Given the description of an element on the screen output the (x, y) to click on. 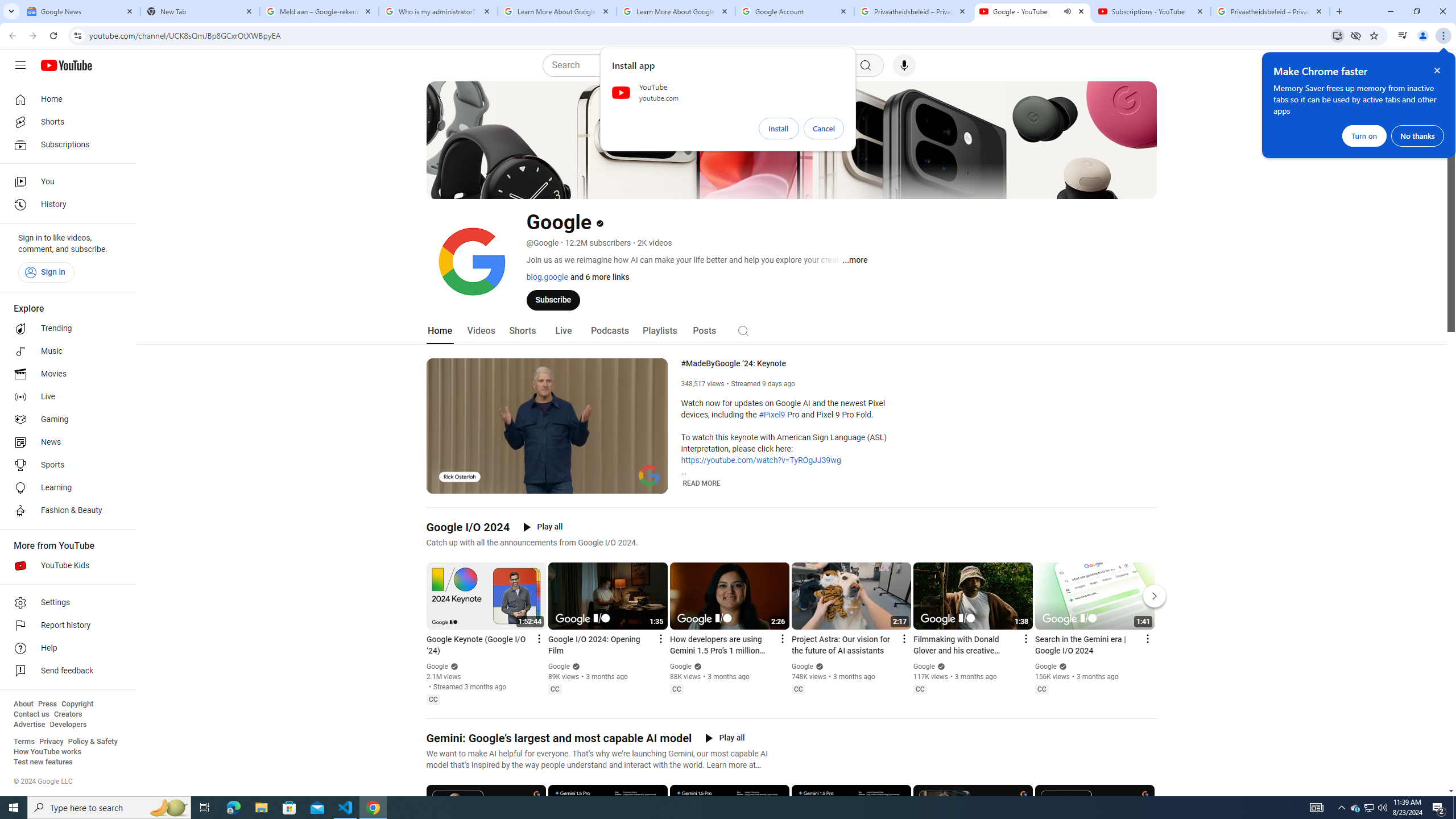
Subtitles/closed captions unavailable (609, 483)
Send feedback (64, 671)
Developers (68, 724)
Videos (481, 330)
YouTube Kids (64, 565)
Who is my administrator? - Google Account Help (438, 11)
